Given the description of an element on the screen output the (x, y) to click on. 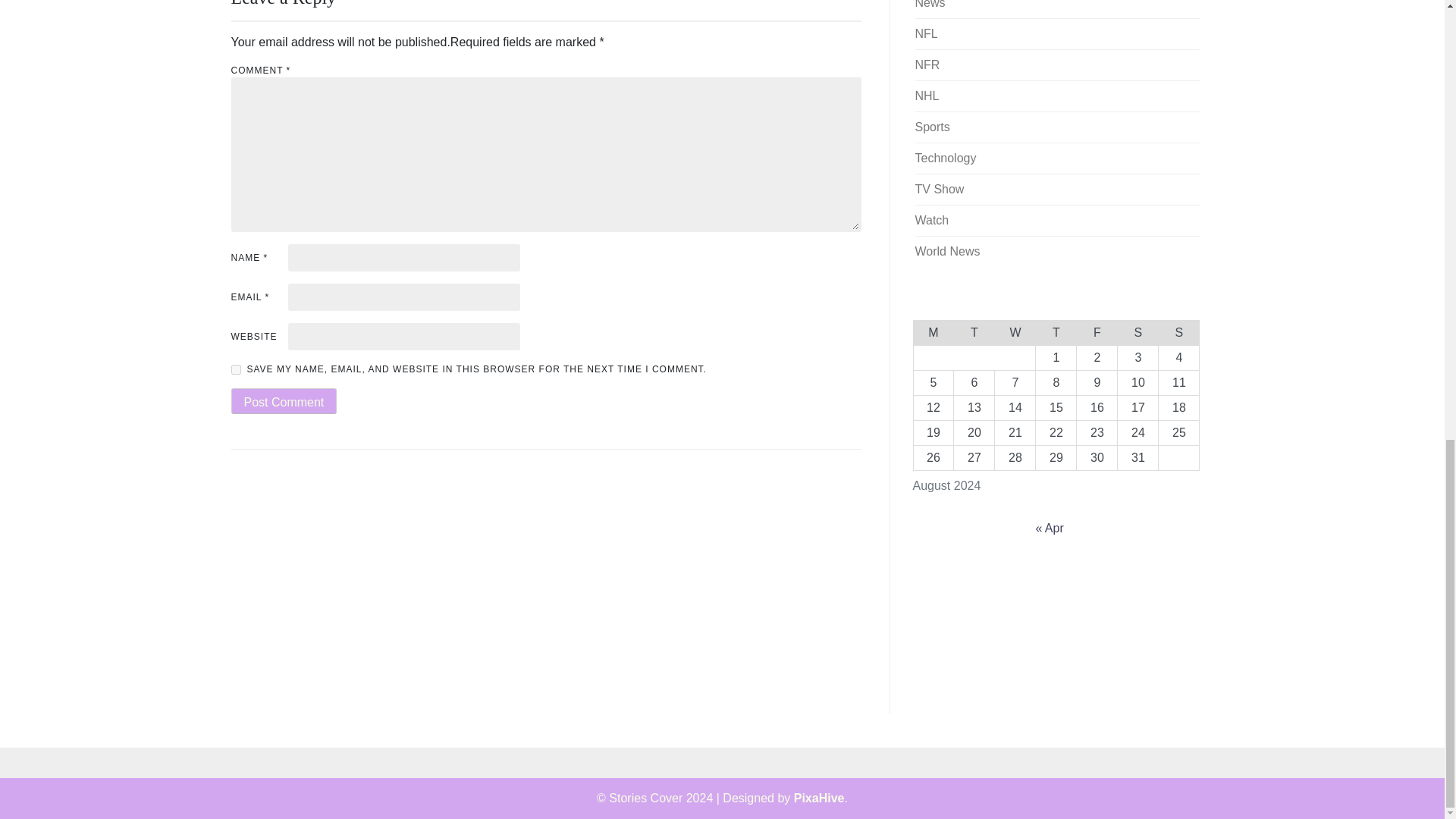
Sunday (1178, 332)
yes (235, 369)
Post Comment (283, 401)
Saturday (1138, 332)
Monday (932, 332)
Wednesday (1014, 332)
Tuesday (973, 332)
Friday (1097, 332)
Thursday (1056, 332)
